Given the description of an element on the screen output the (x, y) to click on. 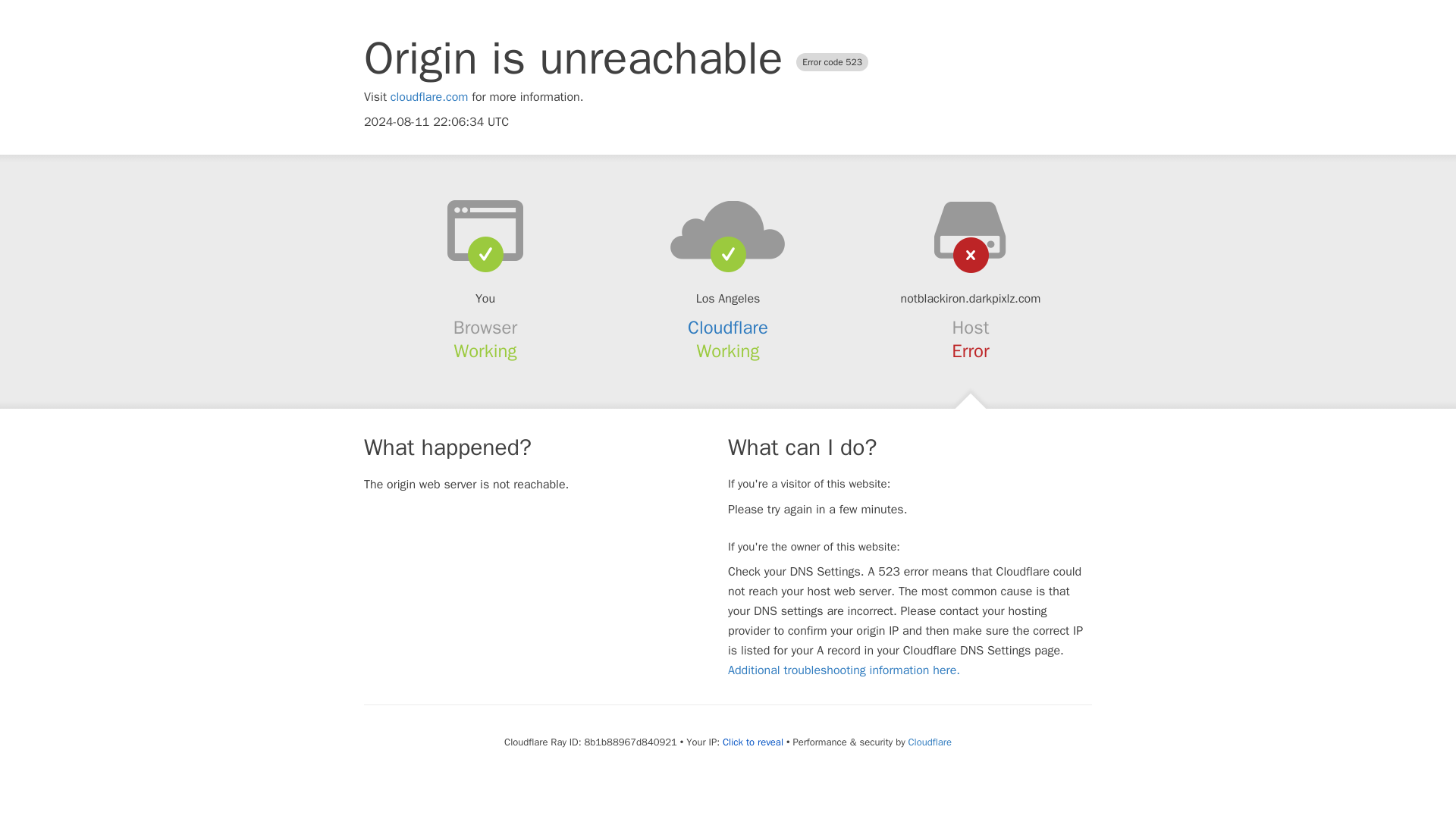
Cloudflare (930, 741)
Additional troubleshooting information here. (843, 670)
Click to reveal (752, 742)
cloudflare.com (429, 96)
Cloudflare (727, 327)
